Given the description of an element on the screen output the (x, y) to click on. 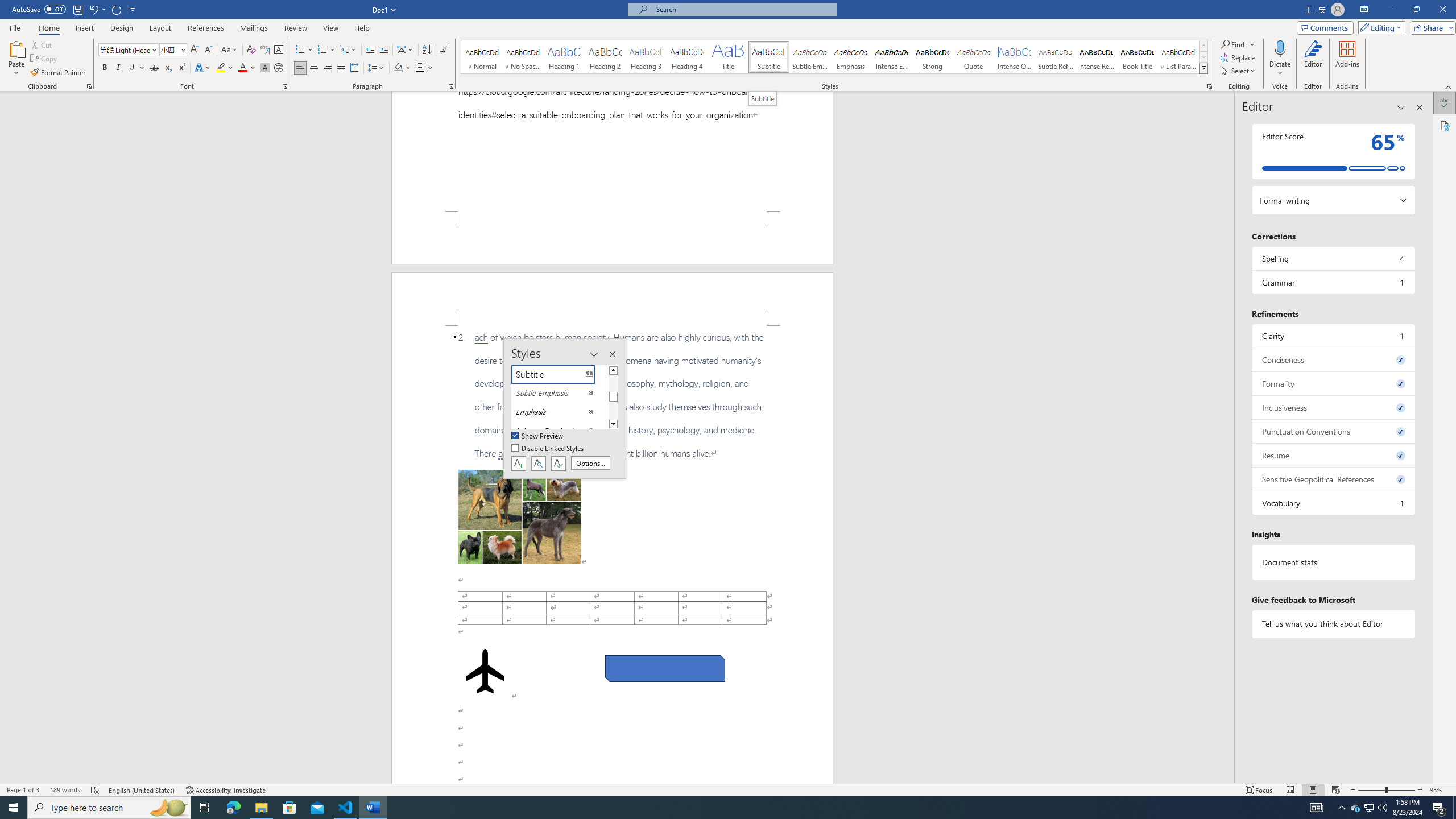
Replace... (1237, 56)
Document statistics (1333, 561)
Print Layout (1312, 790)
AutoSave (38, 9)
Format Painter (58, 72)
Page 2 content (611, 554)
Ribbon Display Options (1364, 9)
Text Highlight Color (224, 67)
Decrease Indent (370, 49)
Page 1 content (611, 151)
Heading 3 (646, 56)
Undo Apply Quick Style (92, 9)
Clear Formatting (250, 49)
Office Clipboard... (88, 85)
2. (611, 395)
